Given the description of an element on the screen output the (x, y) to click on. 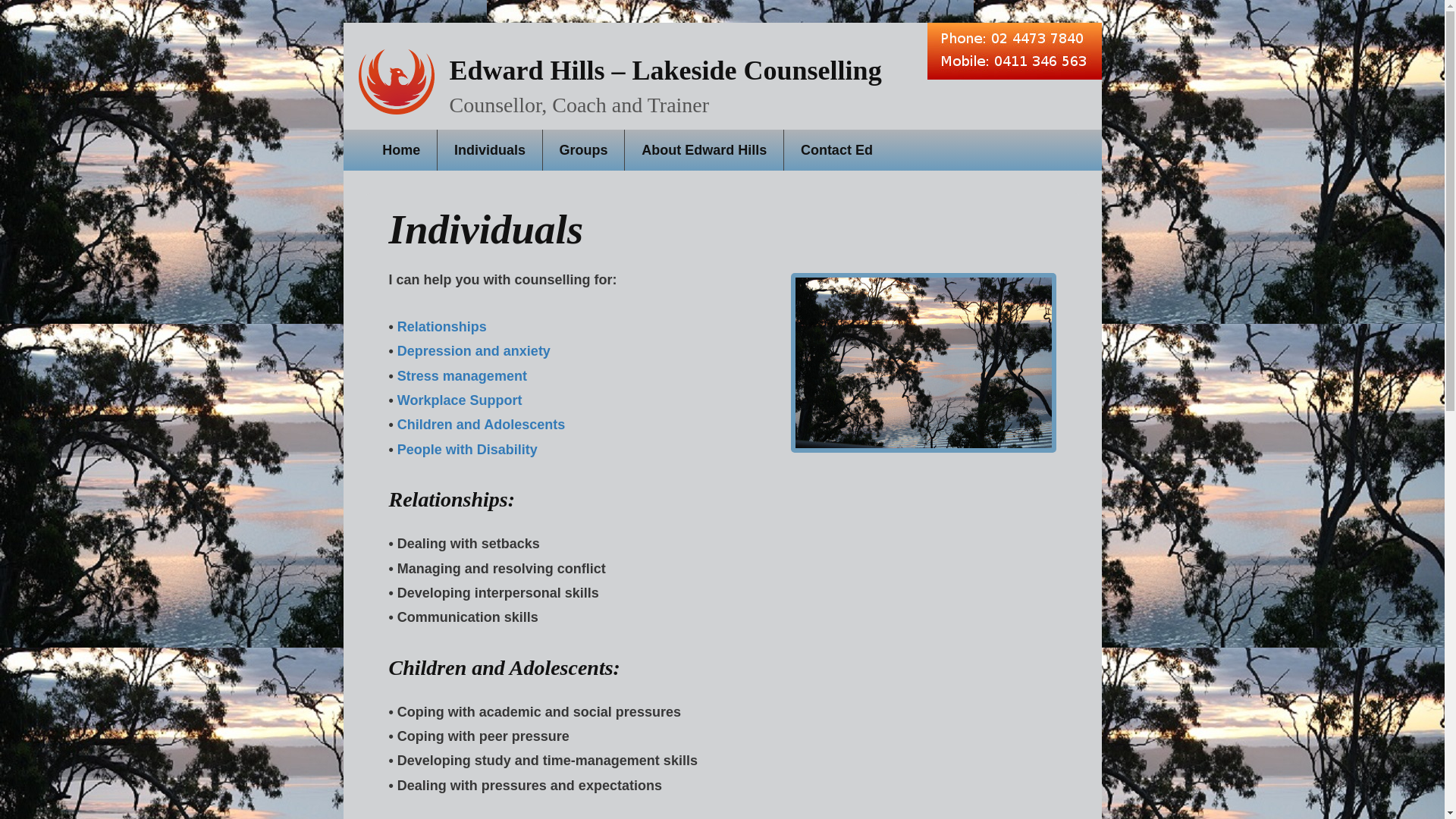
Relationships Element type: text (441, 326)
Children and Adolescents Element type: text (480, 424)
Groups Element type: text (583, 148)
Stress management Element type: text (462, 375)
About Edward Hills Element type: text (703, 148)
Contact Ed Element type: text (836, 148)
Workplace Support Element type: text (459, 399)
Depression and anxiety Element type: text (473, 350)
People with Disability Element type: text (467, 449)
Individuals Element type: text (489, 148)
Home Element type: text (400, 148)
